Given the description of an element on the screen output the (x, y) to click on. 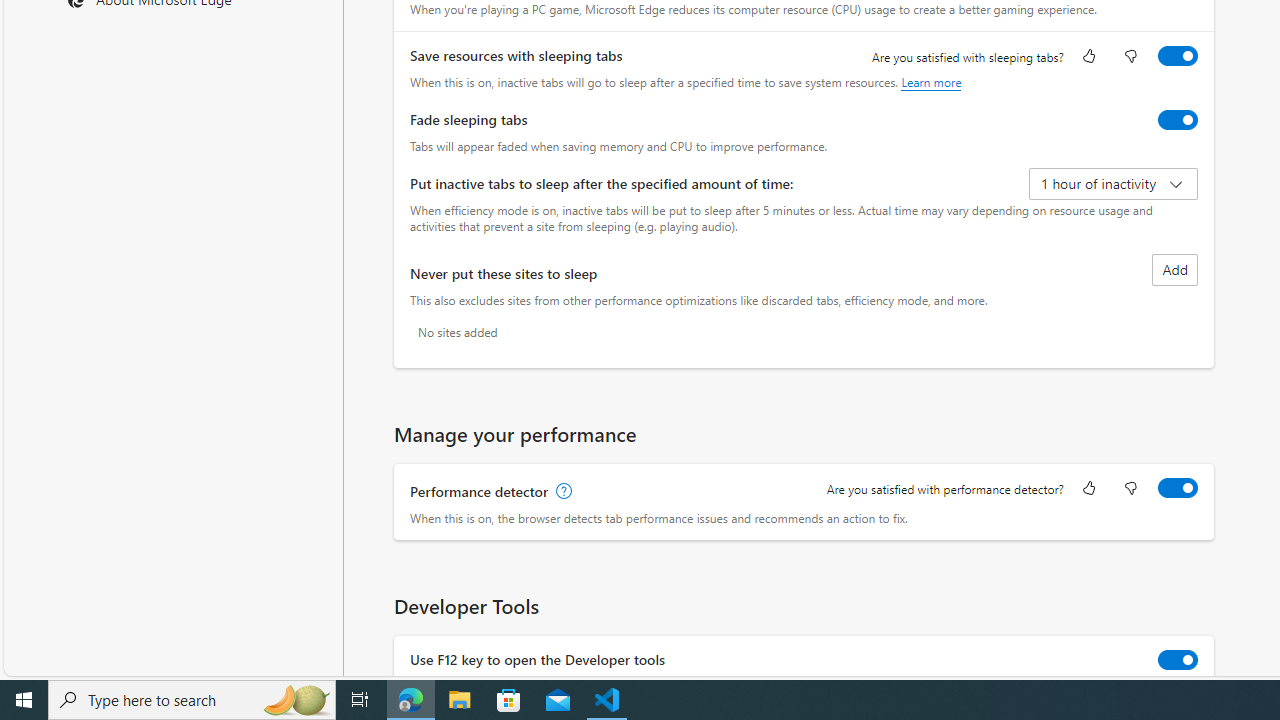
Performance detector (1178, 488)
Add site to never put these sites to sleep list (1175, 269)
Use F12 key to open the Developer tools (1178, 660)
Learn more (931, 82)
Performance detector, learn more (562, 492)
Like (1089, 489)
Save resources with sleeping tabs (1178, 56)
Fade sleeping tabs (1178, 120)
